Given the description of an element on the screen output the (x, y) to click on. 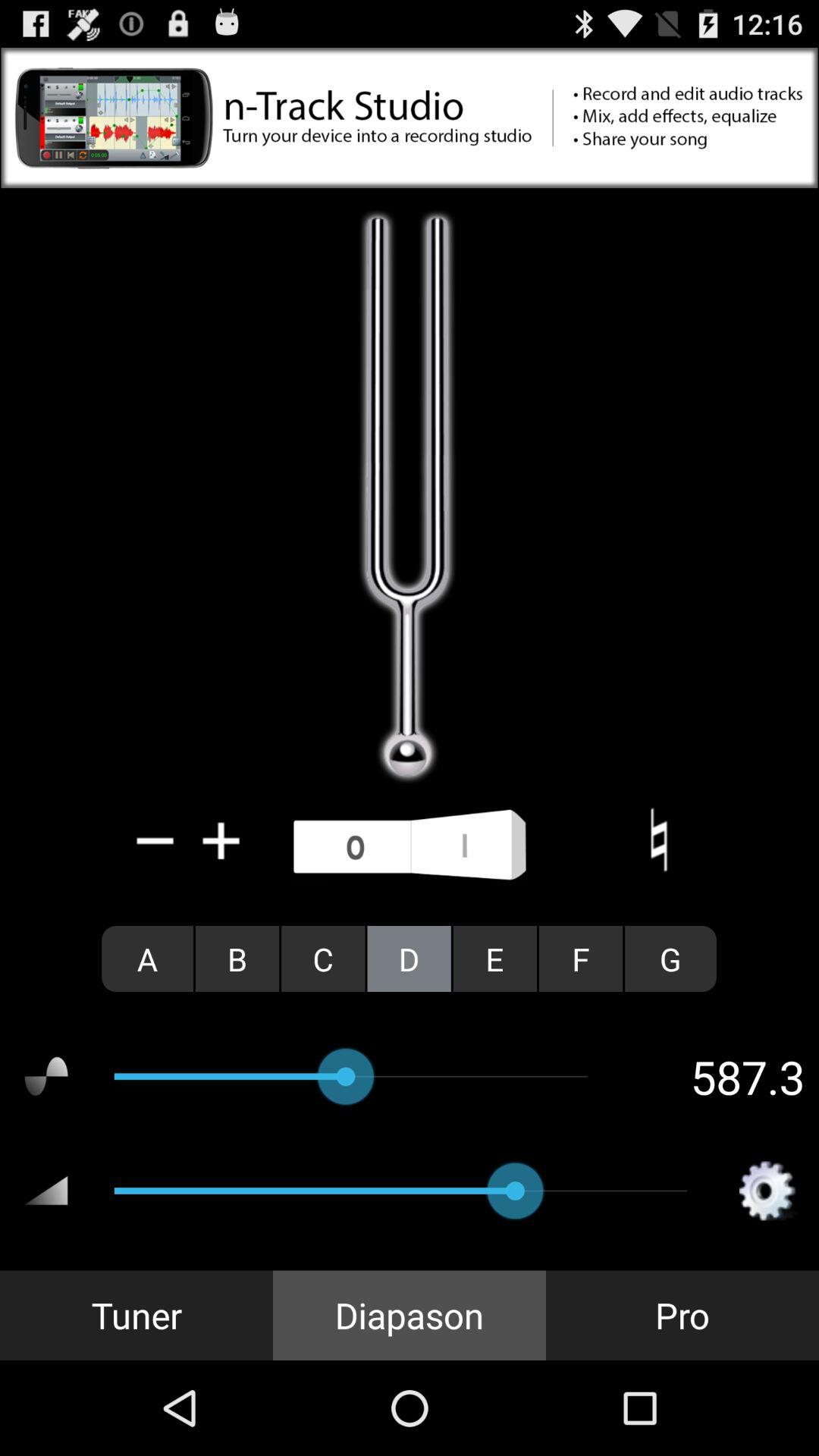
click radio button next to the f item (670, 958)
